Given the description of an element on the screen output the (x, y) to click on. 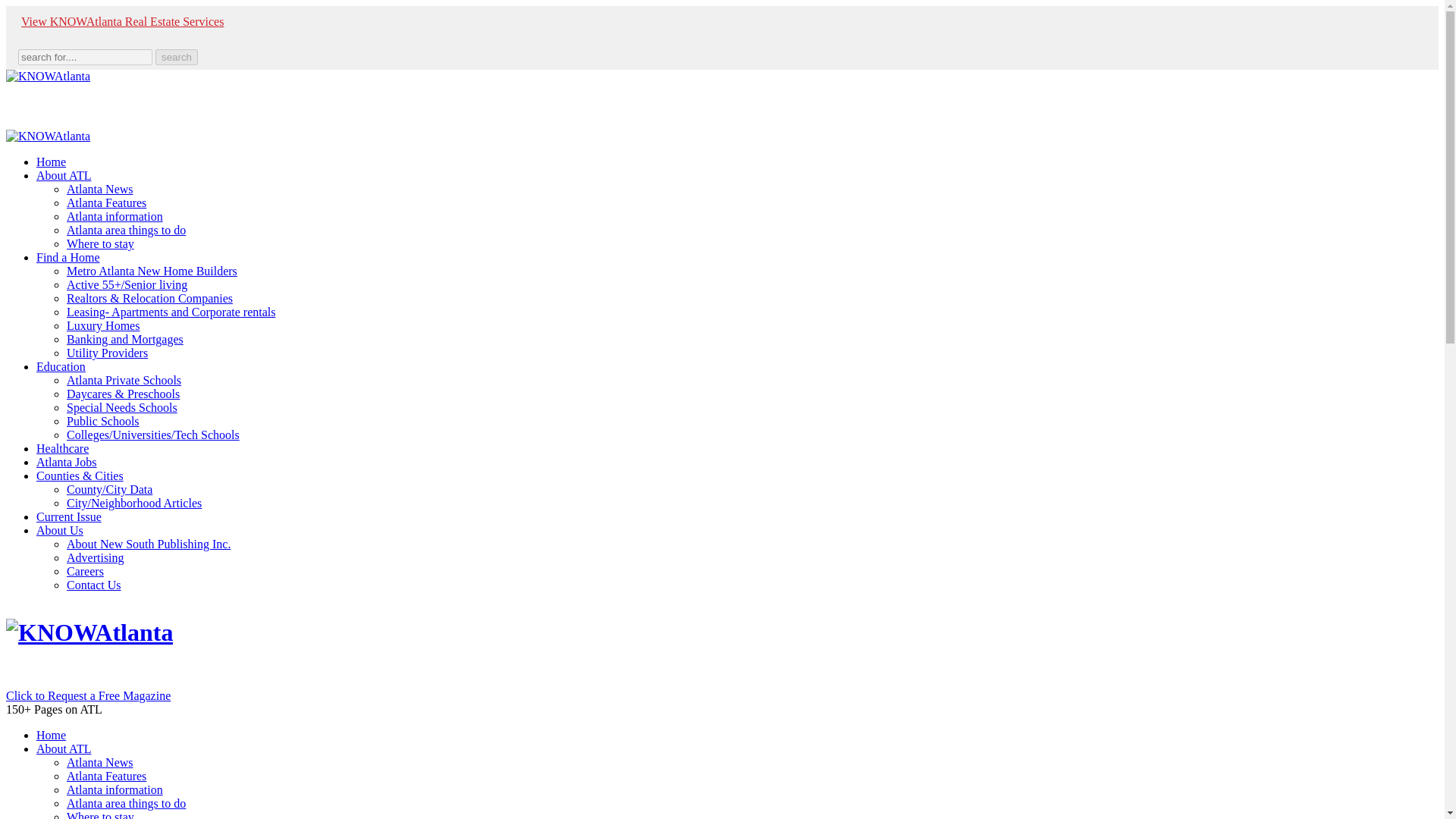
search (176, 57)
About Us (59, 530)
Atlanta News (99, 188)
Careers (84, 571)
Where to stay (99, 243)
Click to Request a Free Magazine (87, 695)
Find a Home (68, 256)
Education (60, 366)
Luxury Homes (102, 325)
Public Schools (102, 420)
About ATL (63, 174)
Metro Atlanta New Home Builders (151, 270)
Utility Providers (107, 352)
Contact Us (93, 584)
Atlanta information (114, 215)
